Given the description of an element on the screen output the (x, y) to click on. 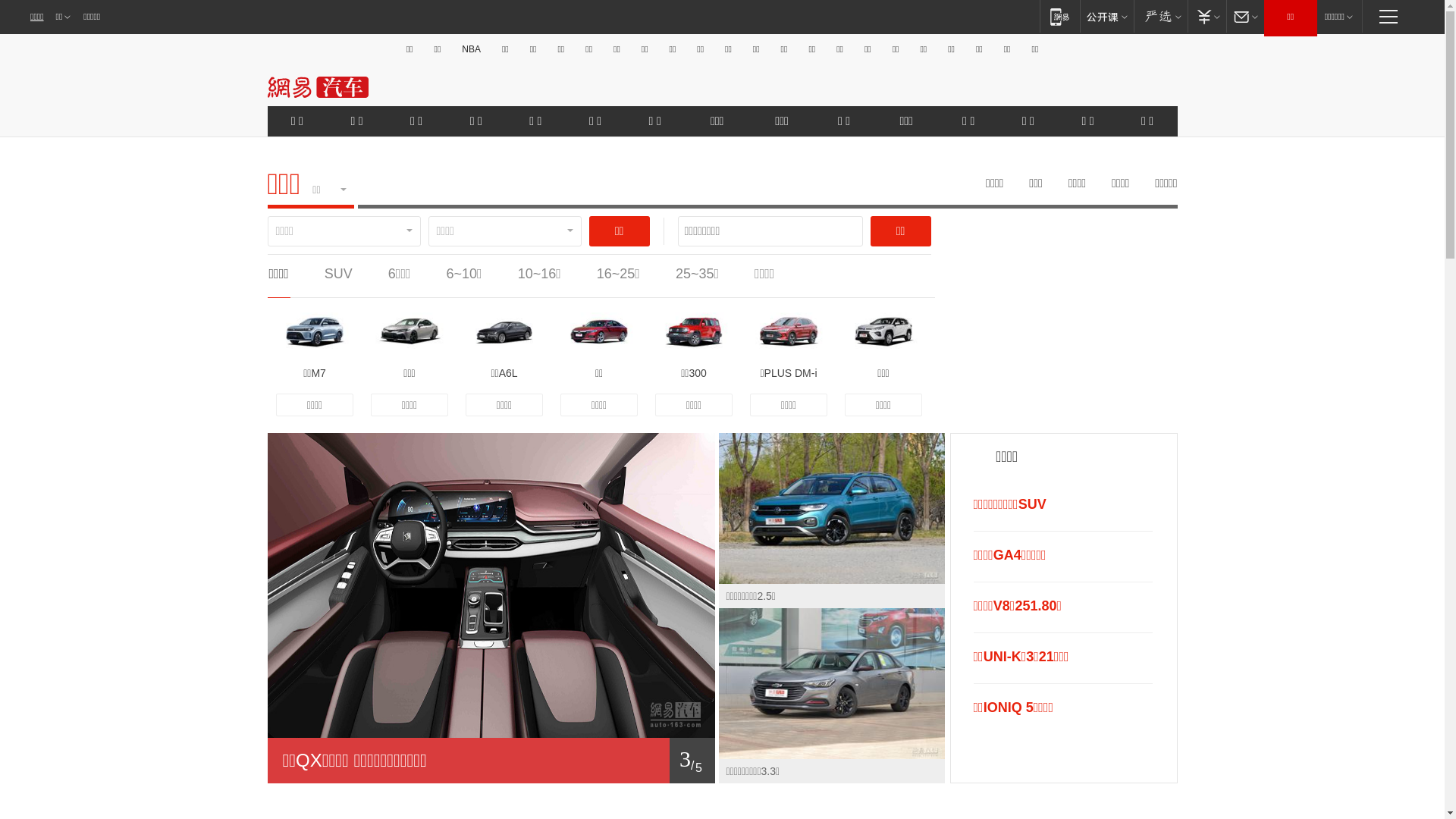
1/ 5 Element type: text (490, 760)
NBA Element type: text (471, 48)
SUV Element type: text (338, 273)
